Given the description of an element on the screen output the (x, y) to click on. 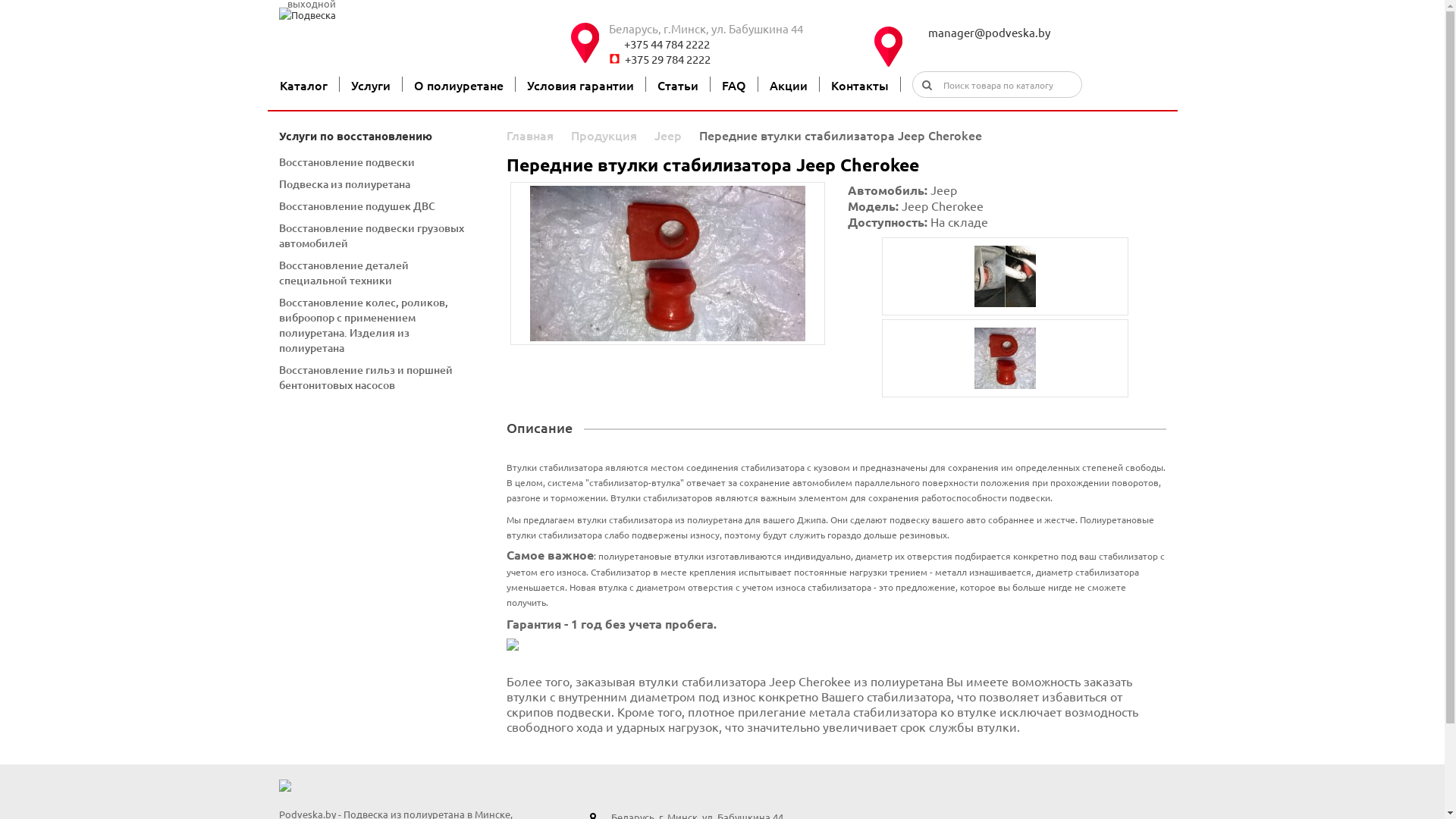
FAQ Element type: text (733, 84)
+375 44 784 2222 Element type: text (740, 43)
Jeep Element type: text (666, 134)
manager@podveska.by Element type: text (1043, 31)
+375 29 784 2222 Element type: text (740, 58)
